Given the description of an element on the screen output the (x, y) to click on. 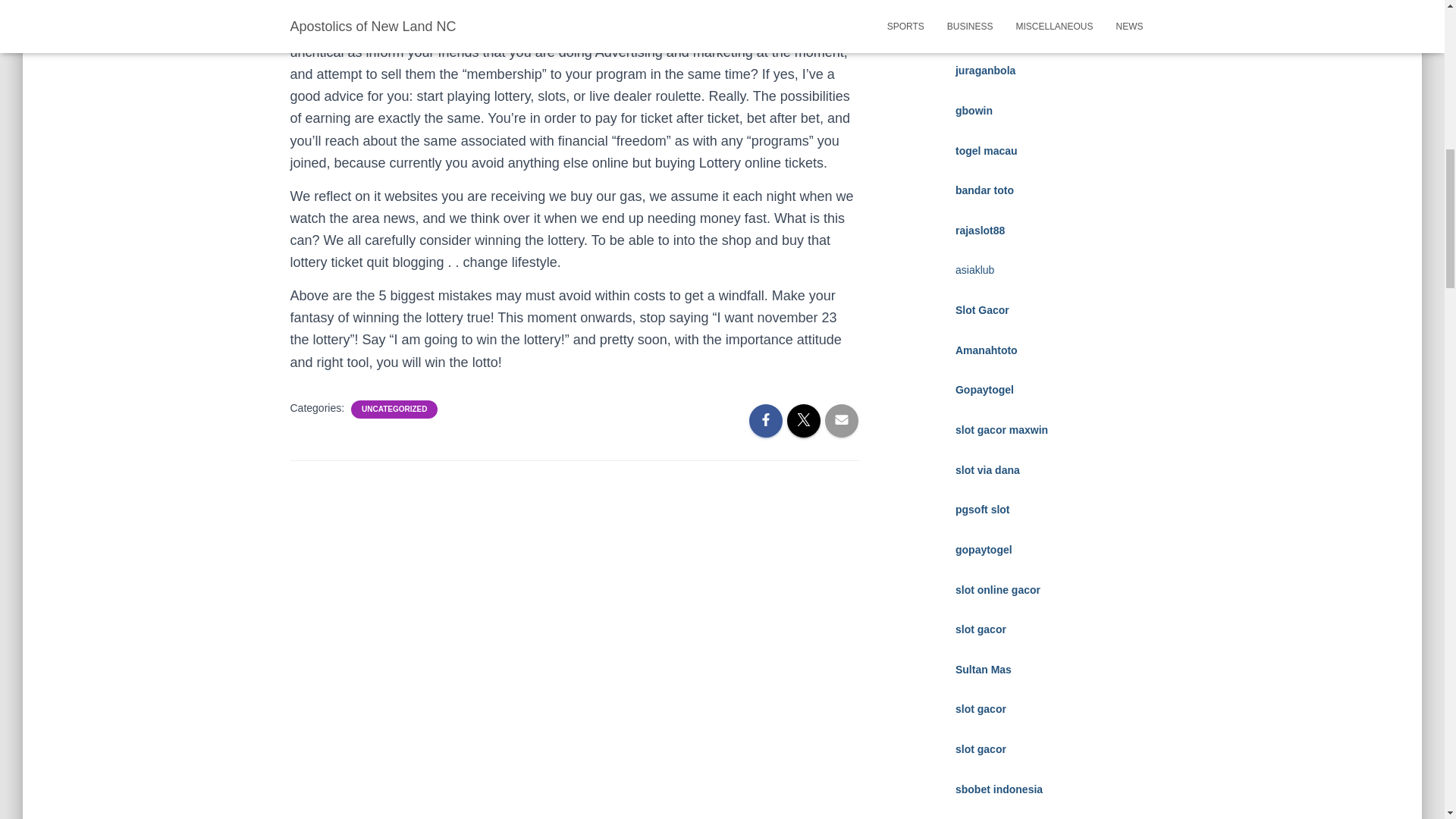
slot gacor (980, 629)
Slot Gacor (982, 309)
pgsoft slot (982, 509)
slot online gacor (998, 589)
asiaklub (974, 269)
togel macau (986, 150)
gopaytogel (983, 549)
UNCATEGORIZED (393, 409)
slot gacor hari ini (999, 30)
slot via dana (987, 469)
gbowin (973, 110)
Amanahtoto (986, 349)
juraganbola (984, 70)
Gopaytogel (984, 389)
rajaslot88 (979, 230)
